Given the description of an element on the screen output the (x, y) to click on. 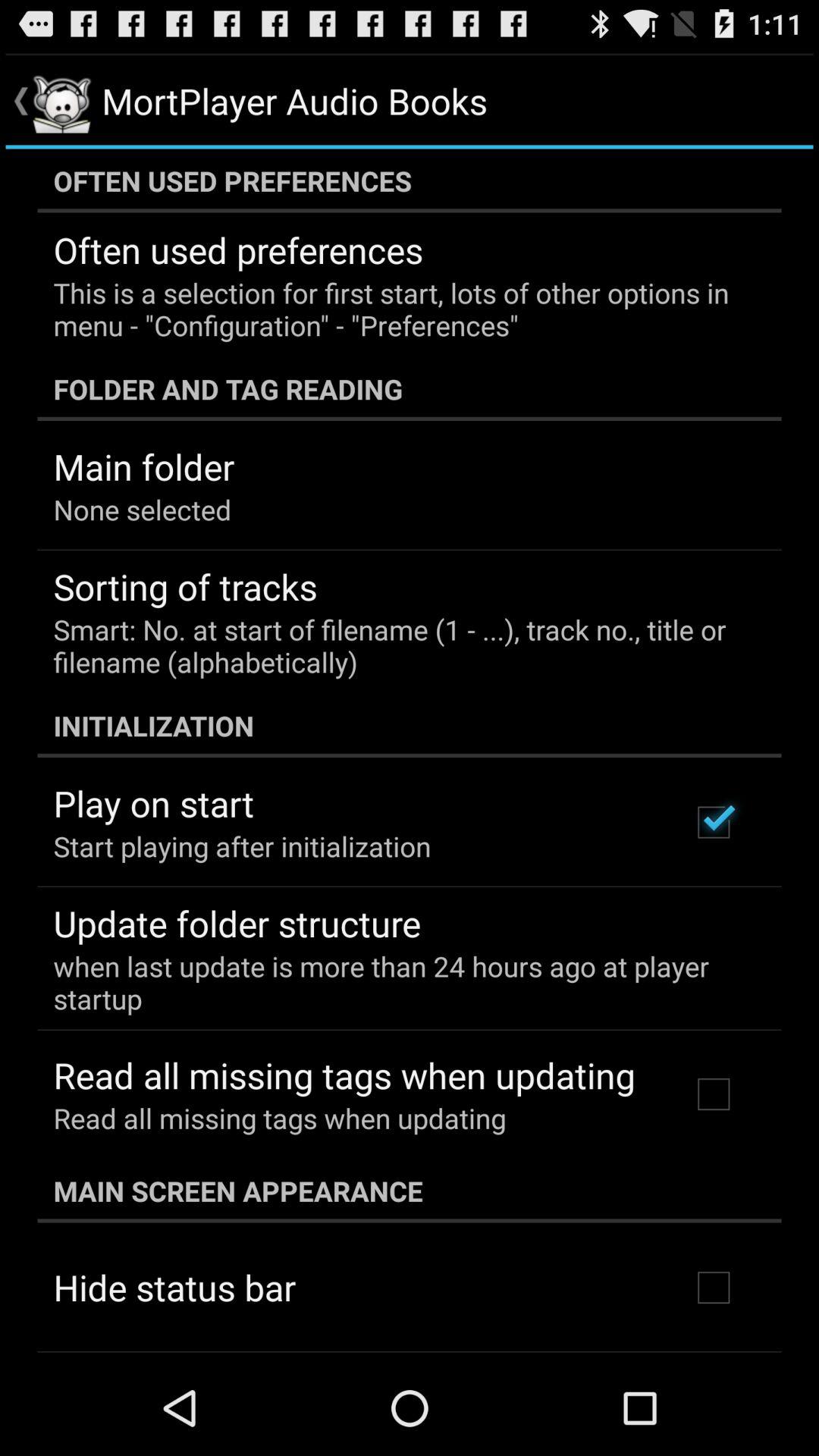
choose the item below the start playing after app (236, 923)
